Given the description of an element on the screen output the (x, y) to click on. 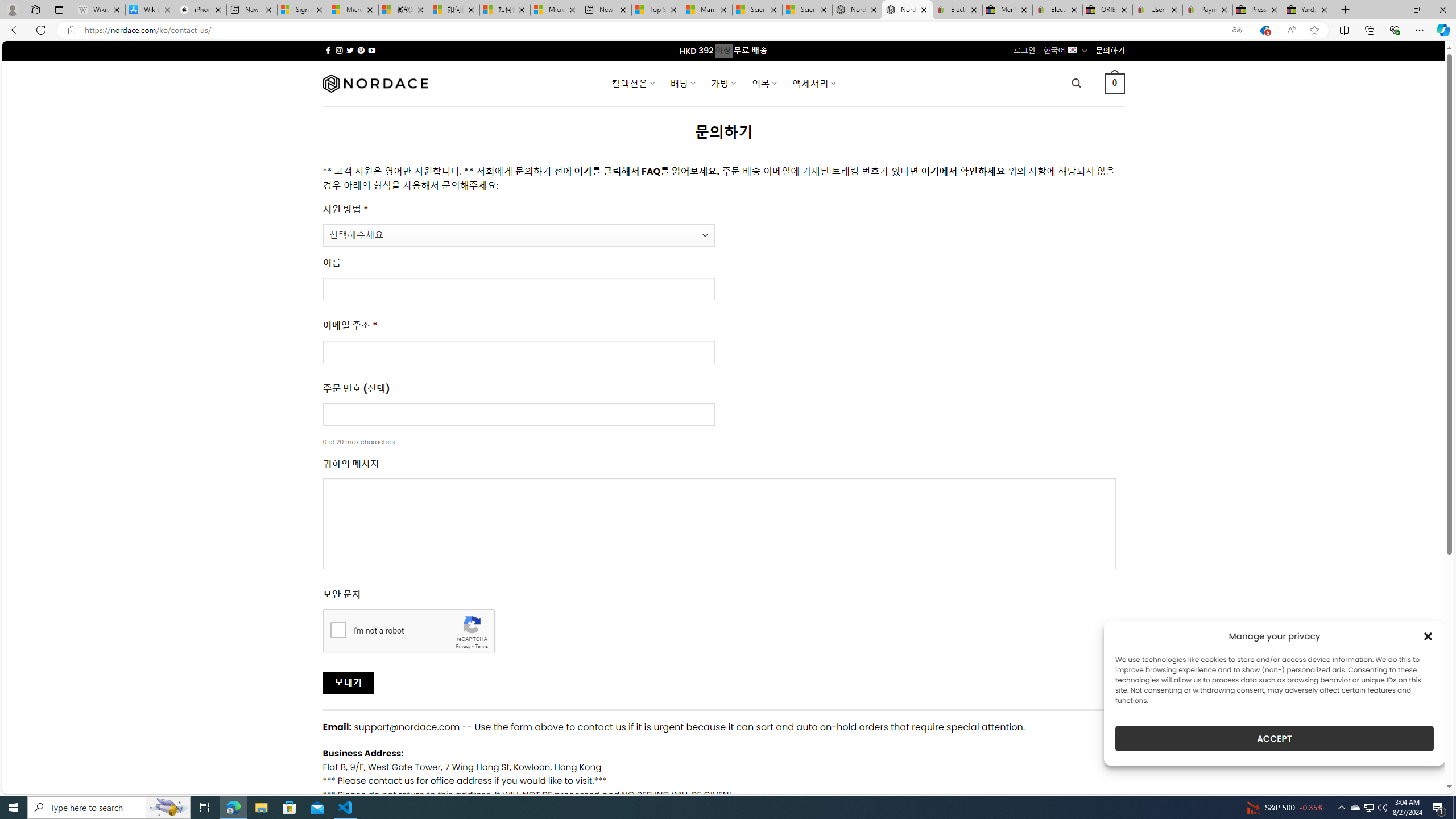
Follow on Pinterest (360, 50)
Marine life - MSN (706, 9)
